Given the description of an element on the screen output the (x, y) to click on. 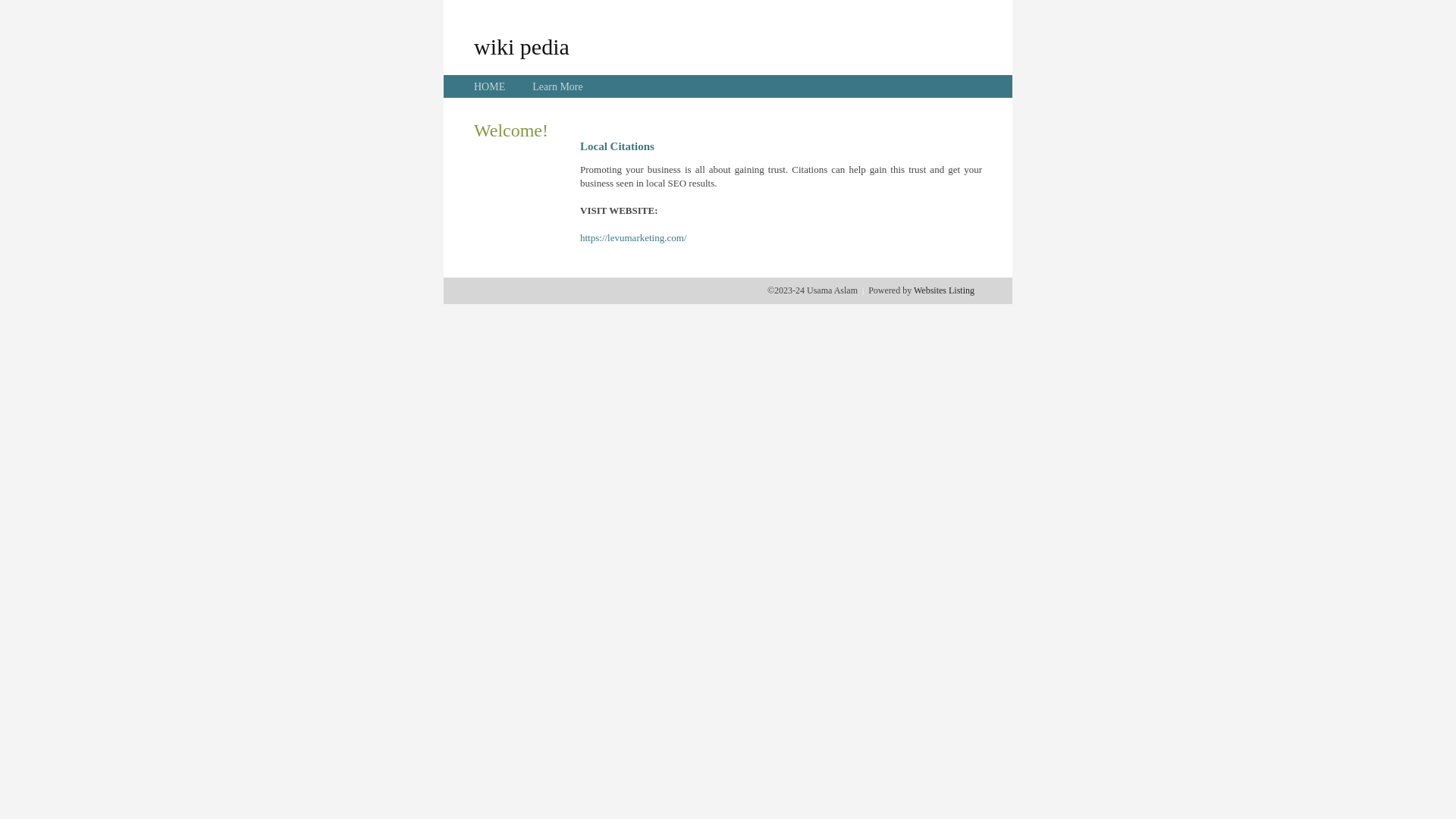
Learn More Element type: text (557, 86)
https://levumarketing.com/ Element type: text (633, 237)
wiki pedia Element type: text (521, 46)
HOME Element type: text (489, 86)
Websites Listing Element type: text (943, 290)
